Given the description of an element on the screen output the (x, y) to click on. 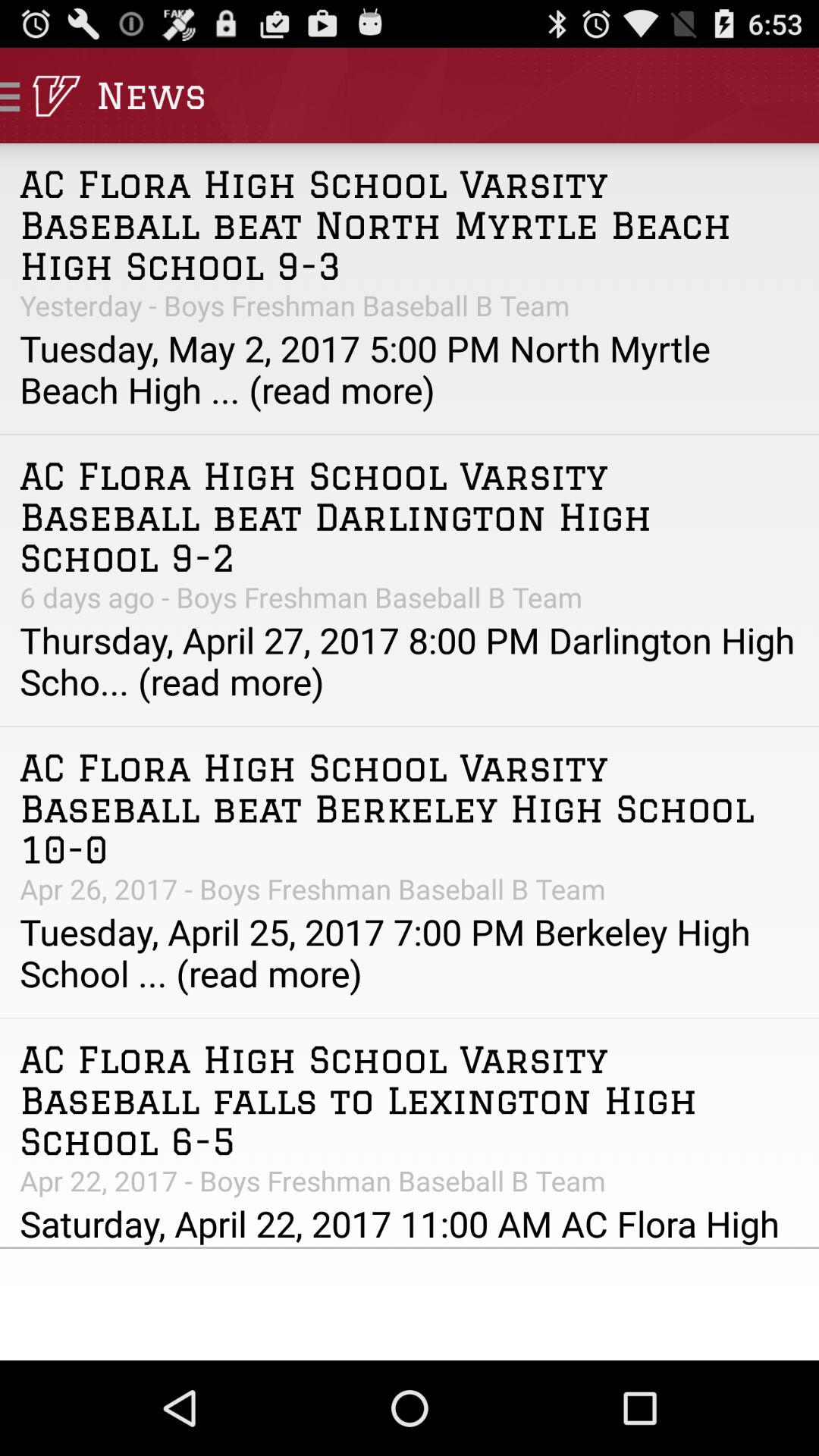
open 6 days ago app (409, 596)
